Given the description of an element on the screen output the (x, y) to click on. 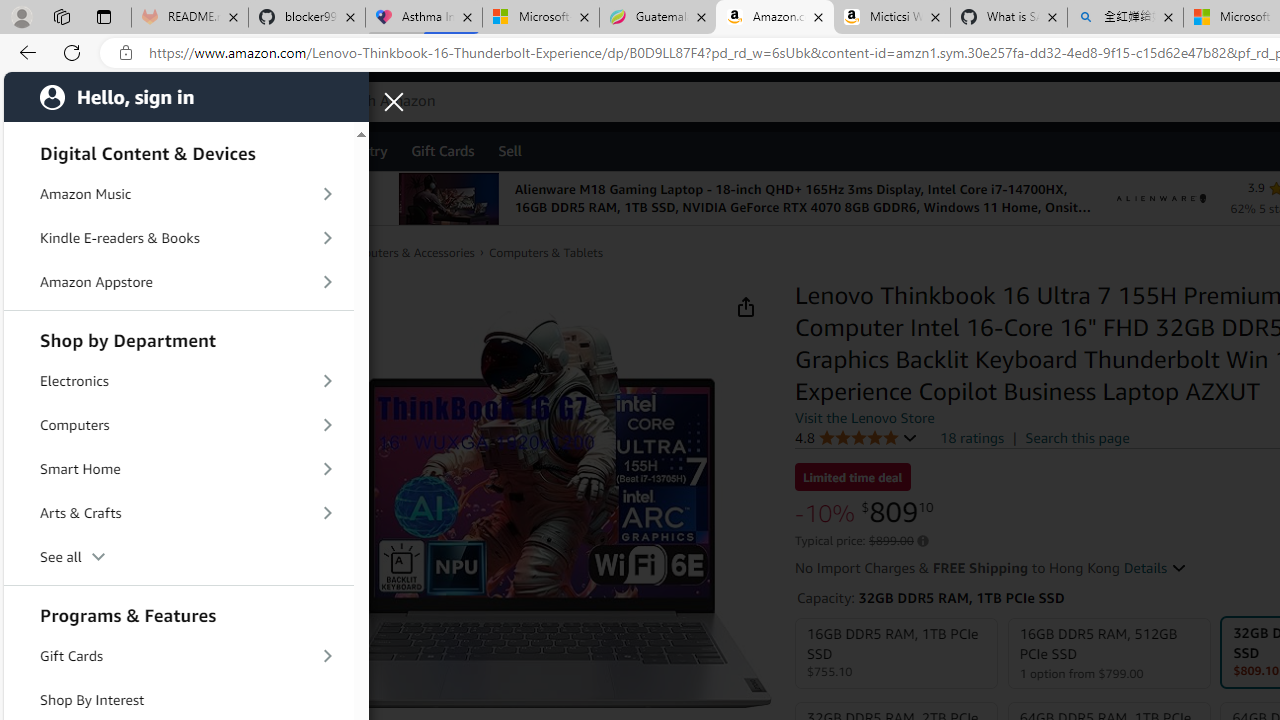
Search in (371, 99)
Details  (1154, 568)
Today's Deals (134, 150)
Programs & Features (178, 613)
Amazon Music (178, 193)
Visit the Lenovo Store (864, 417)
Gift Cards (178, 655)
Kindle E-readers & Books (178, 237)
16GB DDR5 RAM, 512GB PCIe SSD 1 option from $799.00 (1108, 653)
Electronics (178, 380)
